Given the description of an element on the screen output the (x, y) to click on. 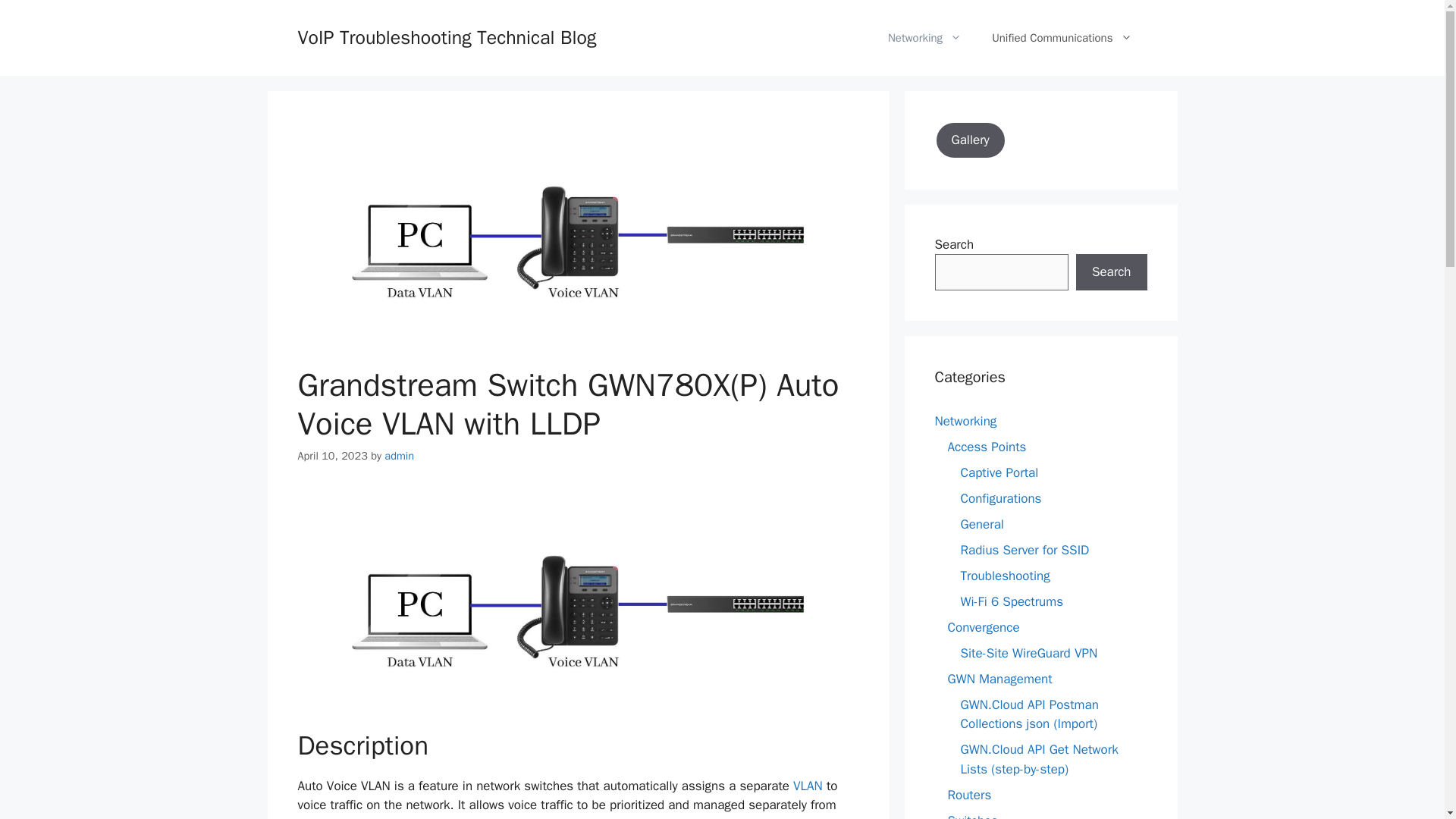
View all posts by admin (398, 455)
VoIP Troubleshooting Technical Blog (446, 37)
Search (1111, 271)
admin (398, 455)
Access Points (986, 446)
Networking (964, 420)
Configurations (1000, 497)
Radius Server for SSID (1024, 549)
Networking (924, 37)
Gallery (970, 139)
